Given the description of an element on the screen output the (x, y) to click on. 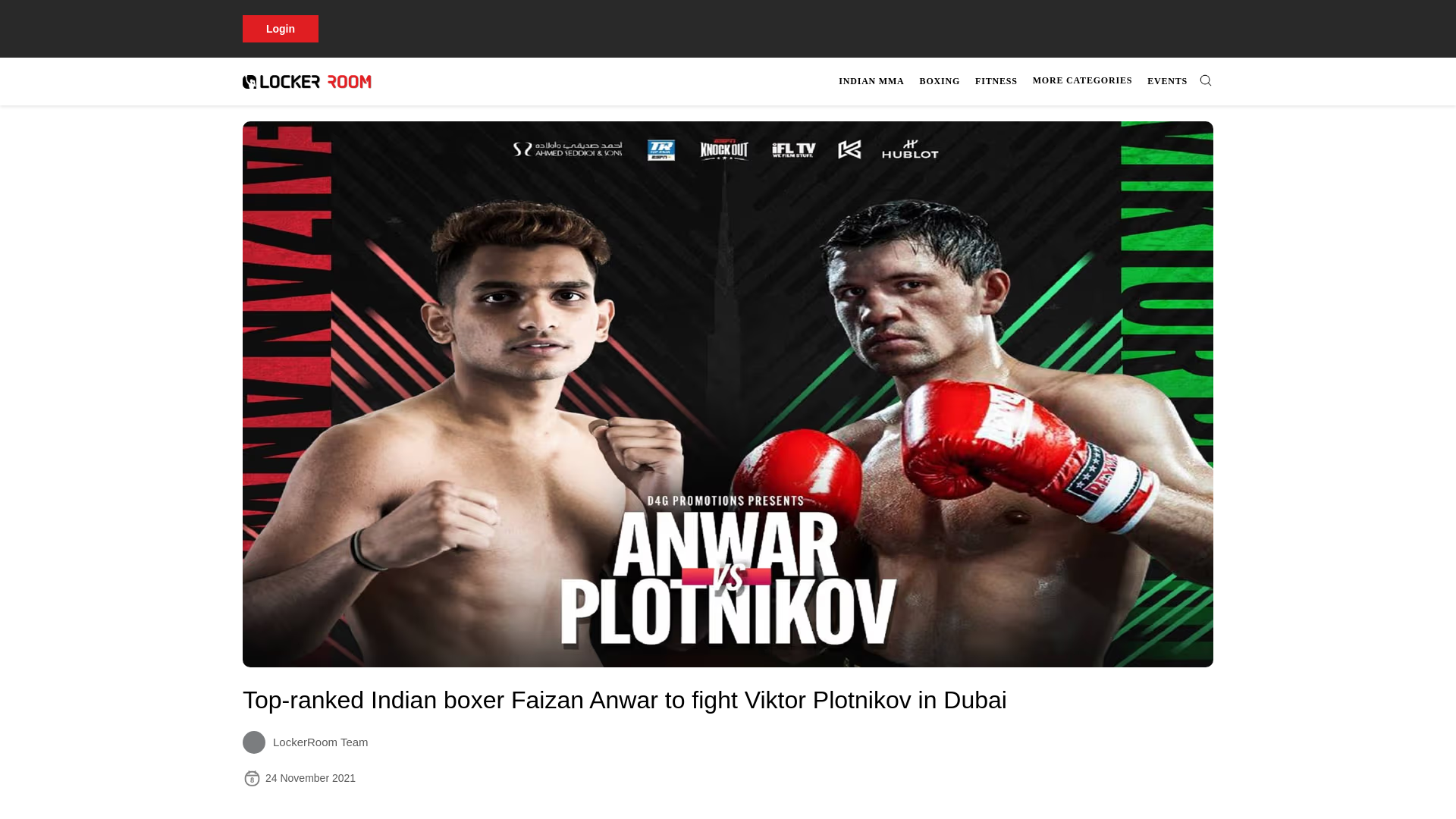
INDIAN MMA (871, 81)
EVENTS (1167, 81)
MORE CATEGORIES (1082, 80)
FITNESS (1023, 81)
Advertisement (996, 81)
BOXING (698, 807)
